Given the description of an element on the screen output the (x, y) to click on. 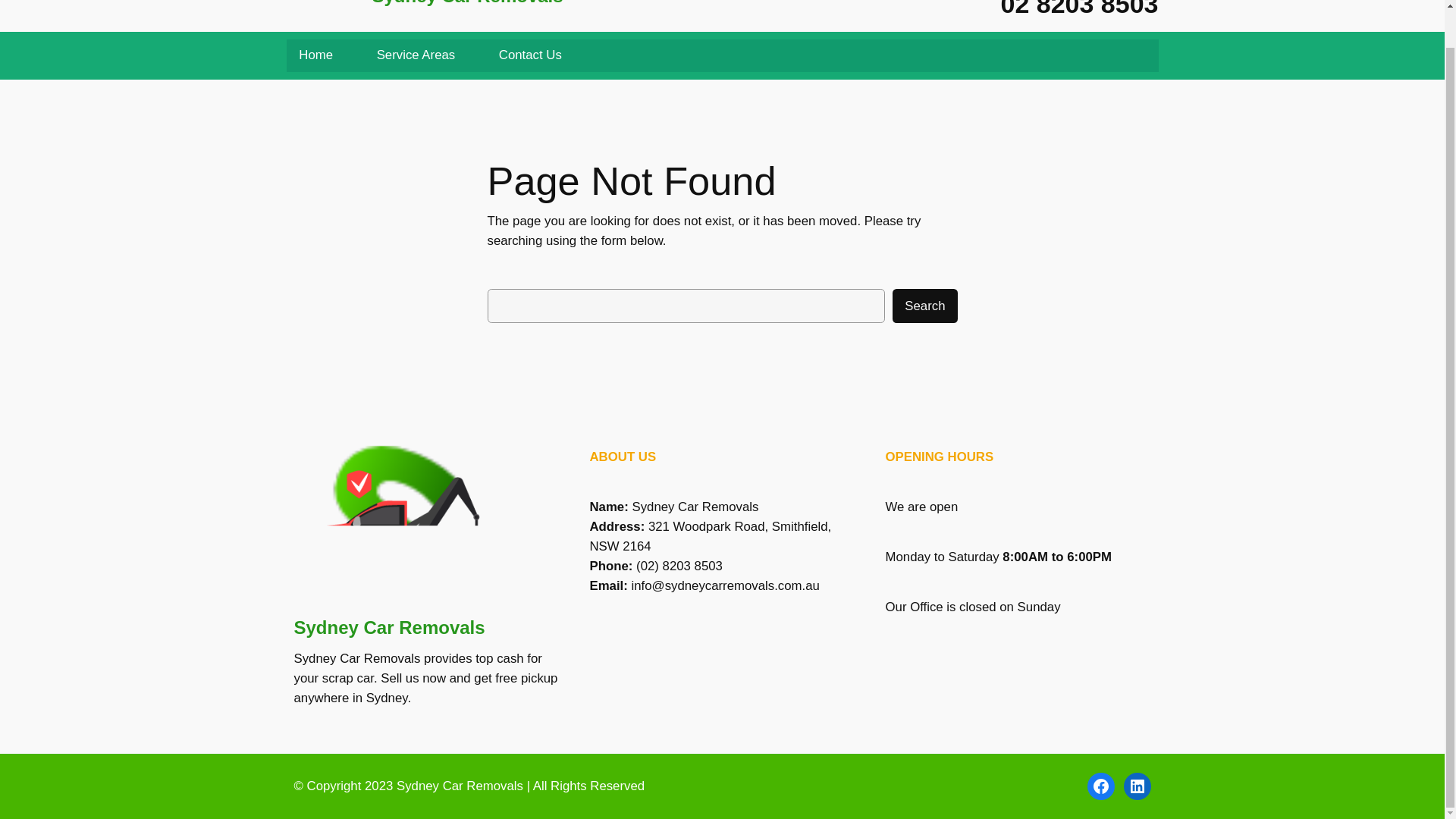
LinkedIn (1137, 786)
Sydney Car Removals (466, 2)
Sydney Car Removals (459, 785)
Home (316, 55)
Search (924, 305)
Facebook (1101, 786)
02 8203 8503 (1079, 9)
Contact Us (530, 55)
Service Areas (415, 55)
Sydney Car Removals (389, 627)
